Given the description of an element on the screen output the (x, y) to click on. 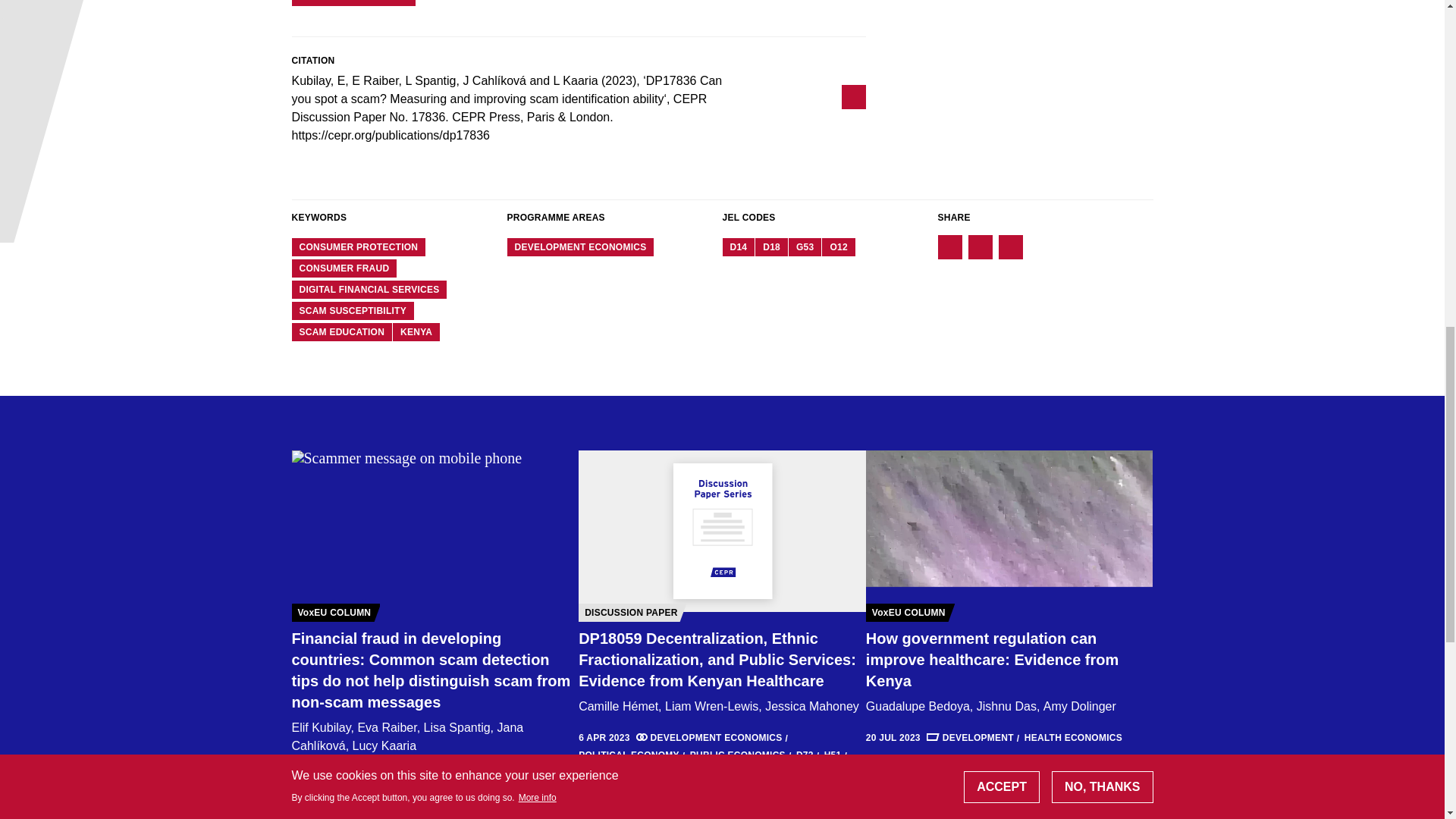
Add to basket (352, 2)
